Given the description of an element on the screen output the (x, y) to click on. 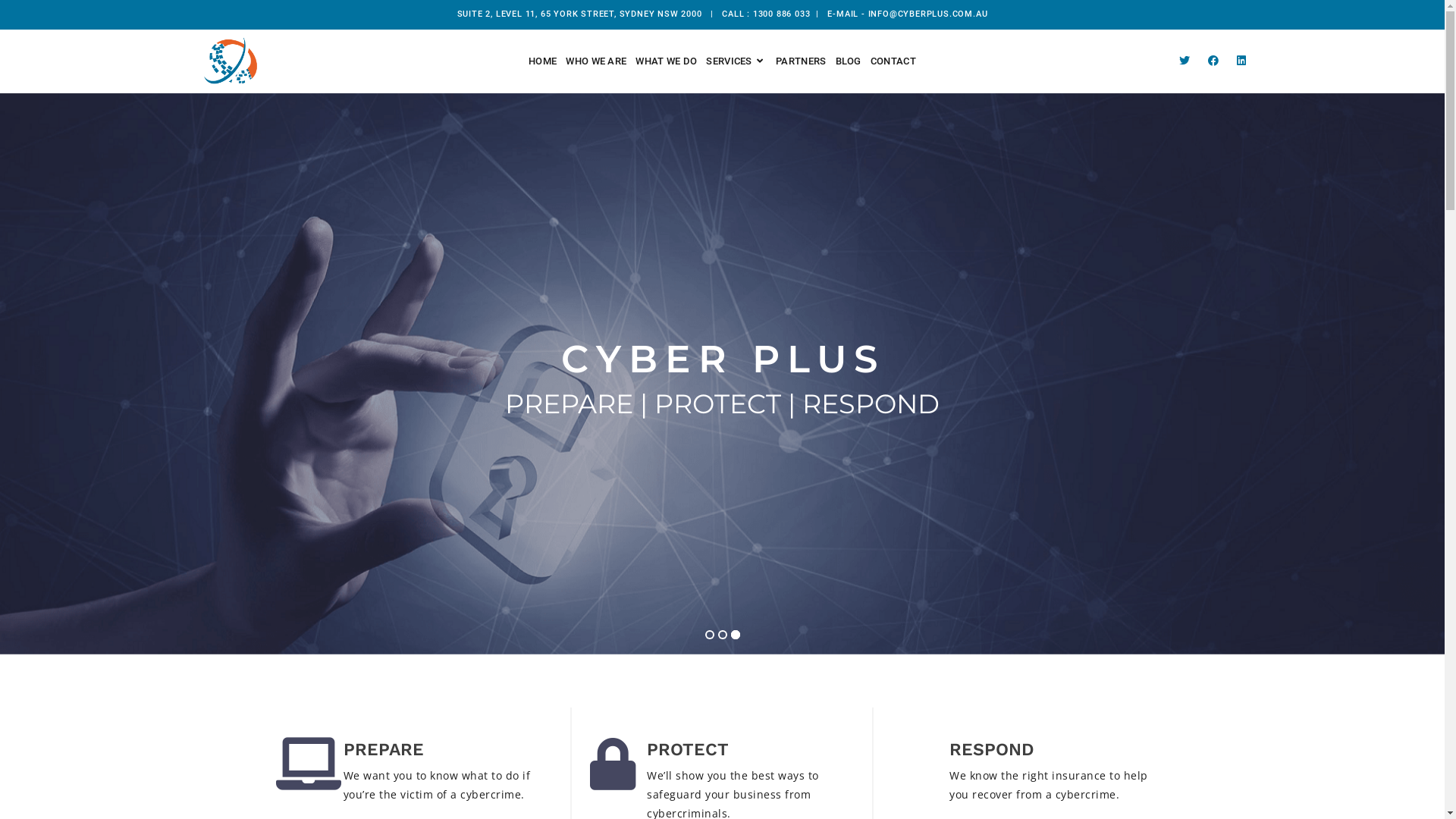
CONTACT Element type: text (893, 60)
PARTNERS Element type: text (800, 60)
SERVICES Element type: text (736, 60)
WHO WE ARE Element type: text (595, 60)
HOME Element type: text (542, 60)
PRIVAY POLICY Element type: text (1208, 795)
1300 886 033 Element type: text (781, 13)
TERMS OF SITE USE Element type: text (1114, 795)
BLOG Element type: text (848, 60)
WHAT WE DO Element type: text (665, 60)
